Given the description of an element on the screen output the (x, y) to click on. 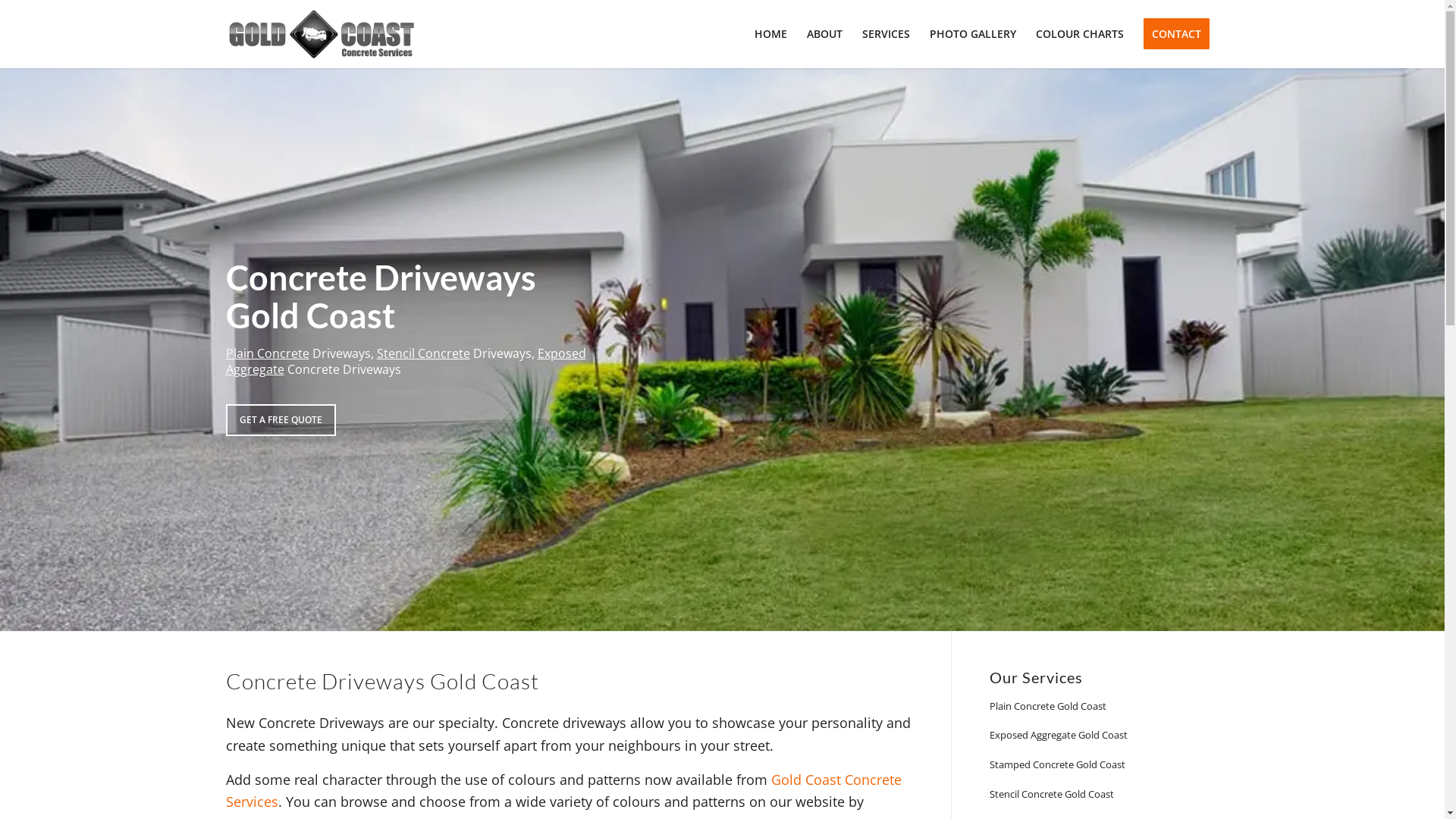
Plain Concrete Element type: text (267, 353)
Gold Coast Concrete Services Element type: text (563, 790)
SERVICES Element type: text (885, 34)
ABOUT Element type: text (823, 34)
Plain Concrete Gold Coast Element type: text (1104, 706)
Gold Coast Concrete Services Logo Element type: hover (321, 34)
HOME Element type: text (770, 34)
Stencil Concrete Gold Coast Element type: text (1104, 794)
Stencil Concrete Element type: text (422, 353)
COLOUR CHARTS Element type: text (1078, 34)
PHOTO GALLERY Element type: text (972, 34)
Exposed Aggregate Element type: text (405, 361)
Stamped Concrete Gold Coast Element type: text (1104, 765)
Gold Coast Concrete Services Slider 1 Element type: hover (722, 348)
GET A FREE QUOTE Element type: text (280, 420)
Exposed Aggregate Gold Coast Element type: text (1104, 735)
CONTACT Element type: text (1175, 34)
